Given the description of an element on the screen output the (x, y) to click on. 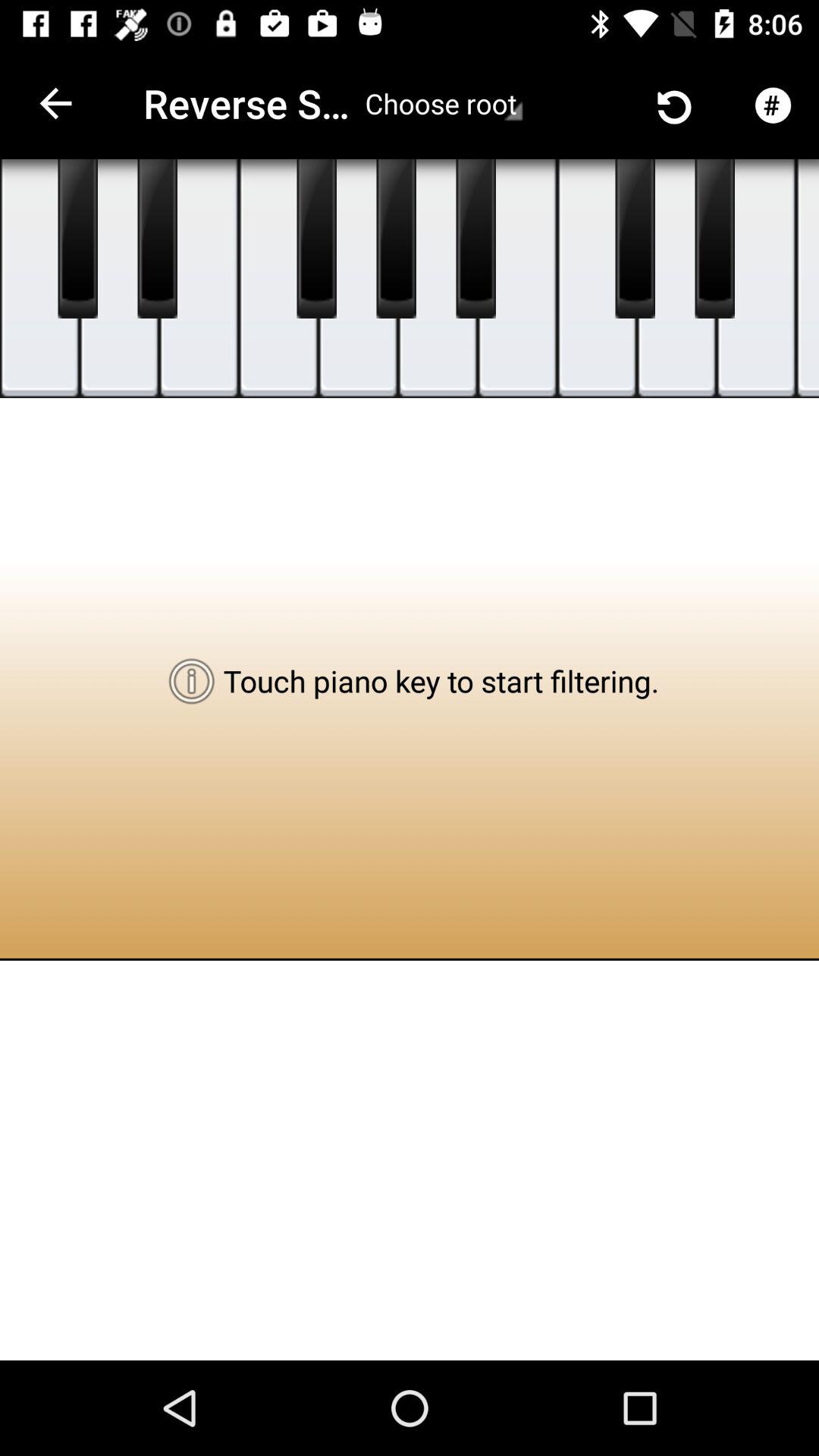
choose the music note (807, 278)
